Given the description of an element on the screen output the (x, y) to click on. 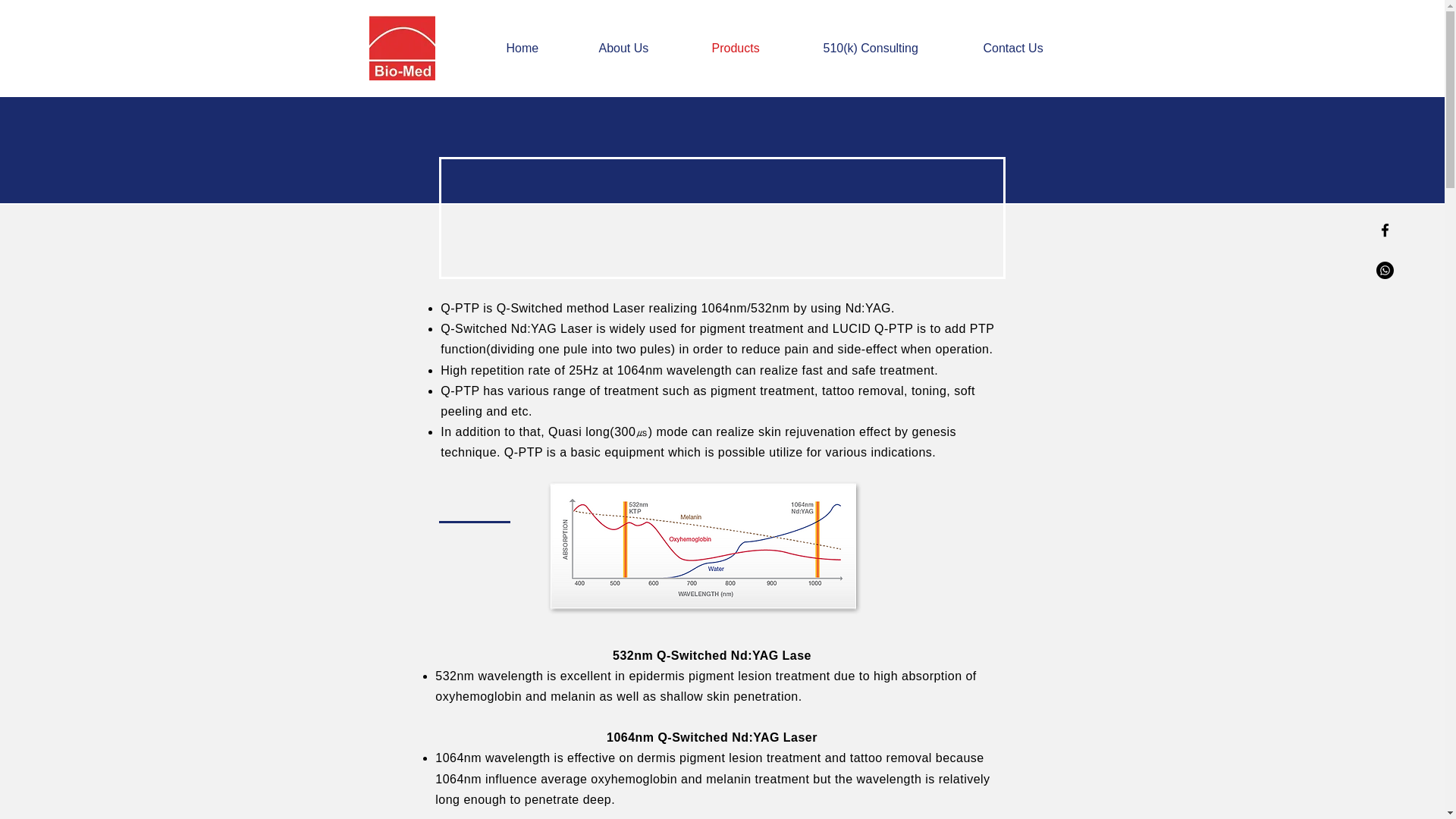
Home (540, 48)
About Us (643, 48)
Contact Us (1033, 48)
Products (756, 48)
